Given the description of an element on the screen output the (x, y) to click on. 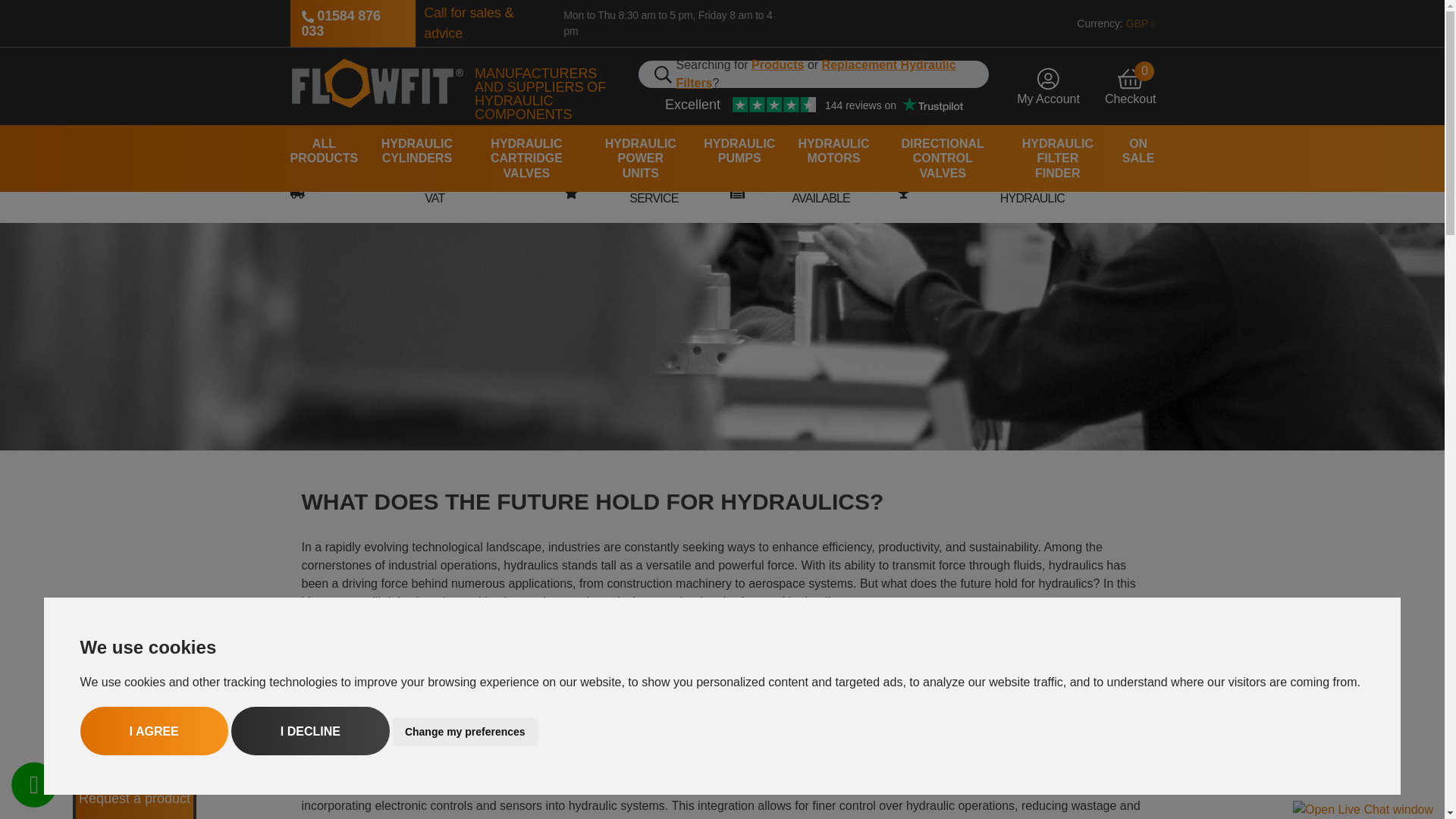
Search (667, 73)
Currency: GBP (1109, 23)
Replacement Hydraulic Filters (816, 73)
I DECLINE (310, 730)
Products (777, 65)
Change my preferences (1043, 82)
Customer reviews powered by Trustpilot (465, 732)
I AGREE (814, 104)
